Given the description of an element on the screen output the (x, y) to click on. 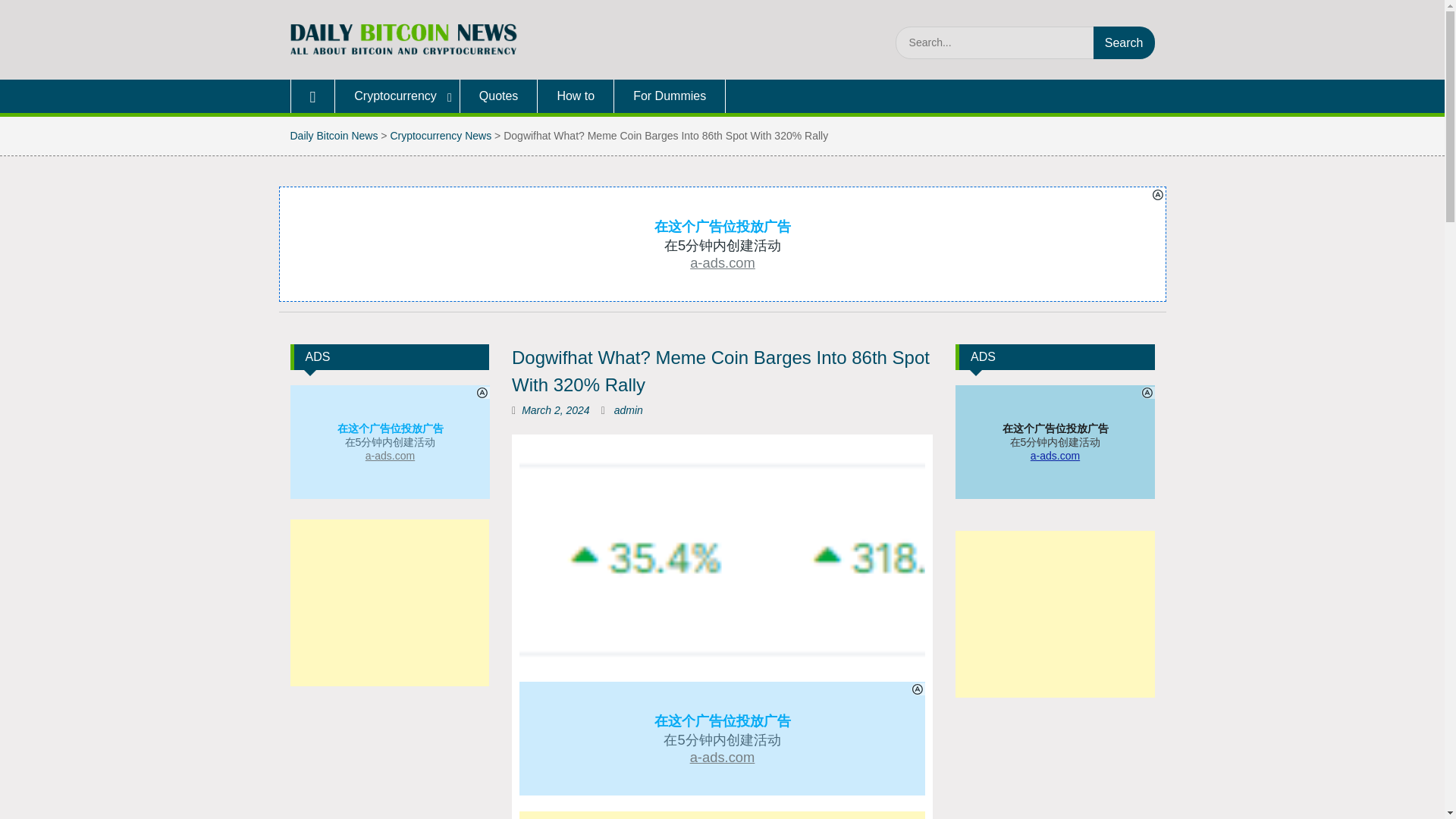
Cryptocurrency (397, 96)
For Dummies (669, 96)
Advertisement (721, 815)
Advertisement (1054, 764)
admin (628, 410)
Quotes (499, 96)
Search (1123, 42)
Search (1123, 42)
Daily Bitcoin News (333, 135)
Search (1123, 42)
Cryptocurrency News (441, 135)
Advertisement (389, 758)
Search for: (1024, 42)
March 2, 2024 (555, 410)
